Given the description of an element on the screen output the (x, y) to click on. 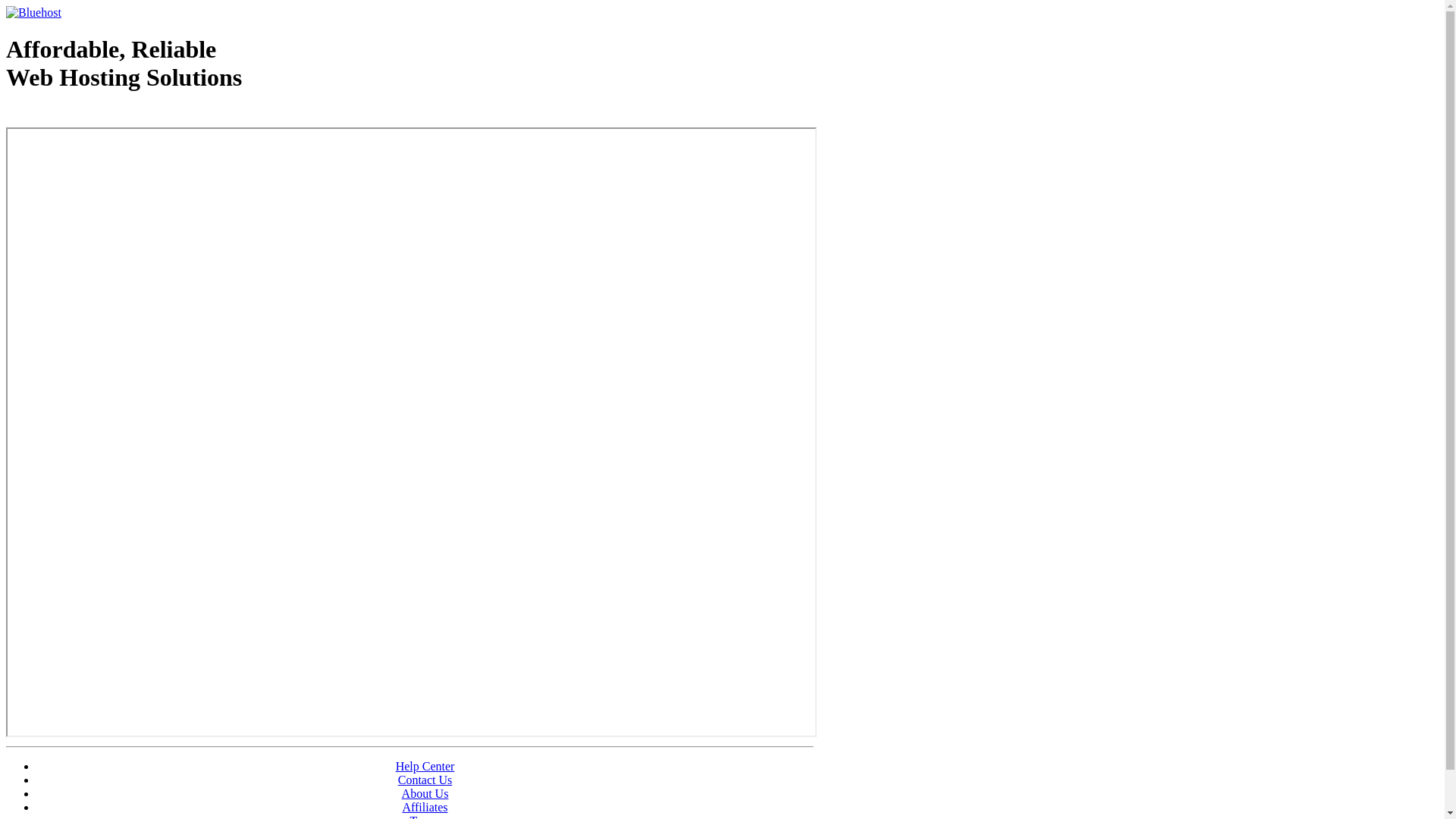
Web Hosting - courtesy of www.bluehost.com Element type: text (94, 115)
Affiliates Element type: text (424, 806)
Help Center Element type: text (425, 765)
Contact Us Element type: text (425, 779)
About Us Element type: text (424, 793)
